Given the description of an element on the screen output the (x, y) to click on. 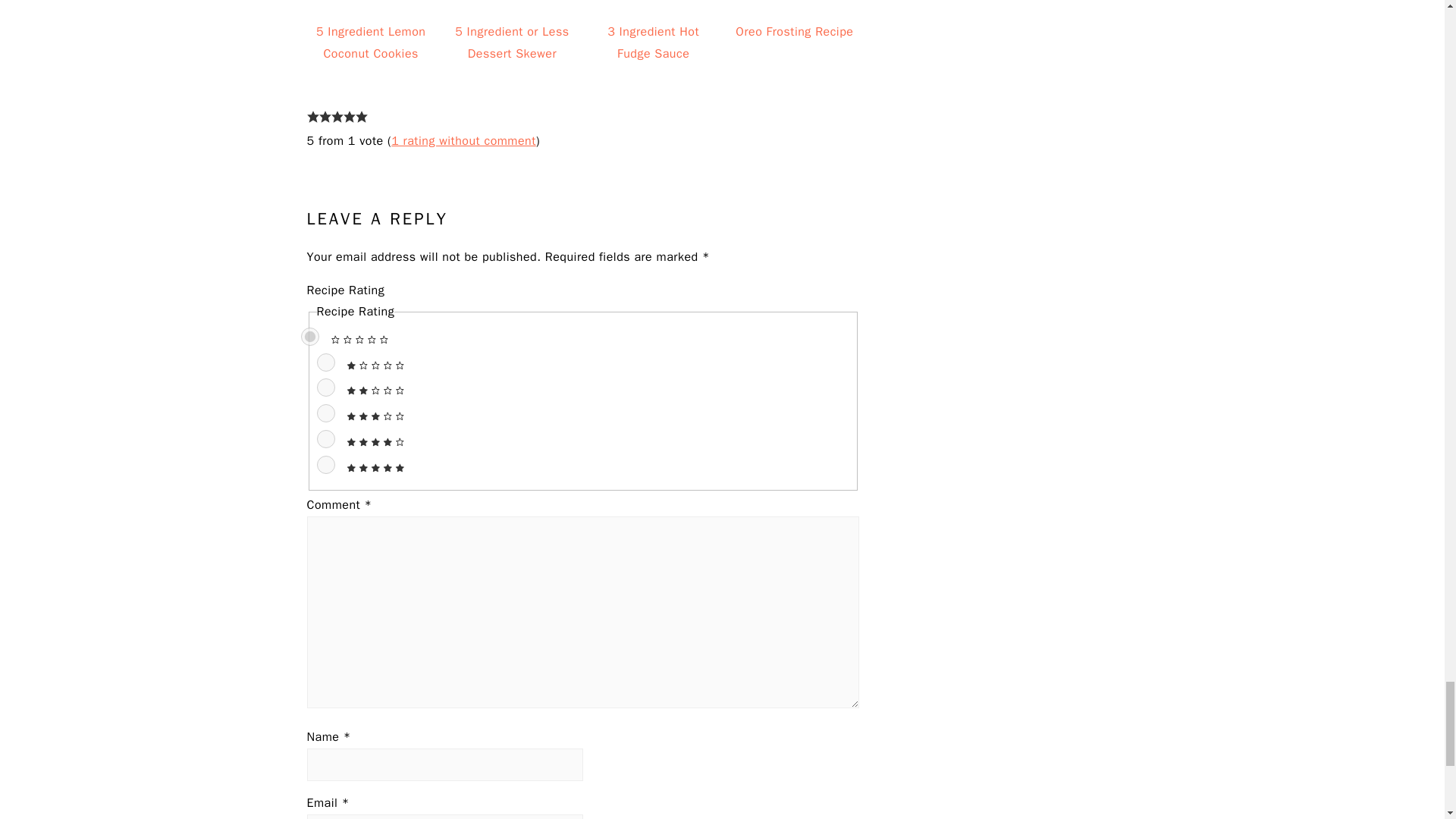
3 (325, 413)
0 (308, 336)
5 (325, 464)
2 (325, 387)
1 (325, 361)
4 (325, 438)
